Given the description of an element on the screen output the (x, y) to click on. 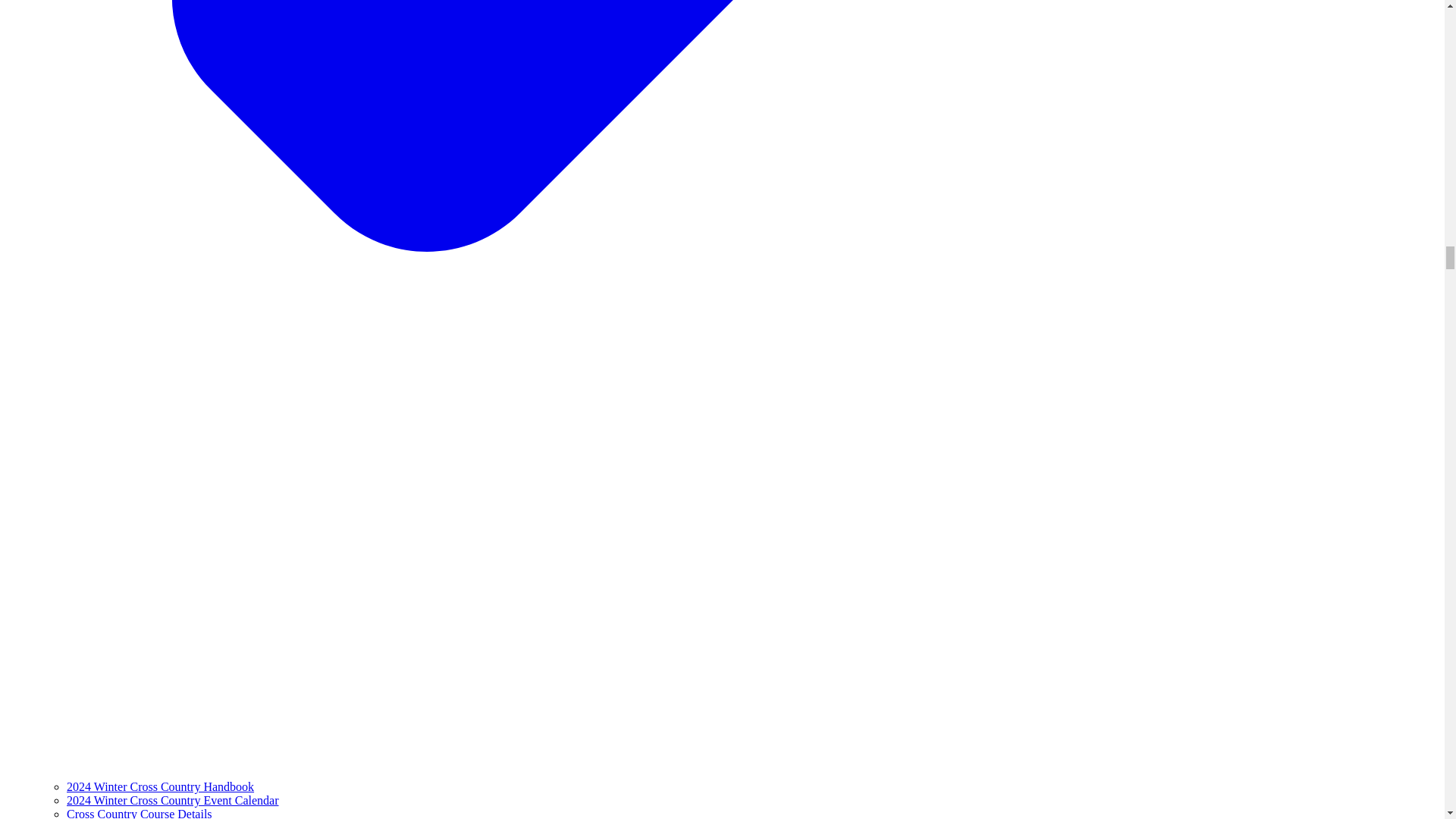
Cross Country Course Details (139, 813)
2024 Winter Cross Country Handbook (159, 786)
2024 Winter Cross Country Event Calendar (172, 799)
